Given the description of an element on the screen output the (x, y) to click on. 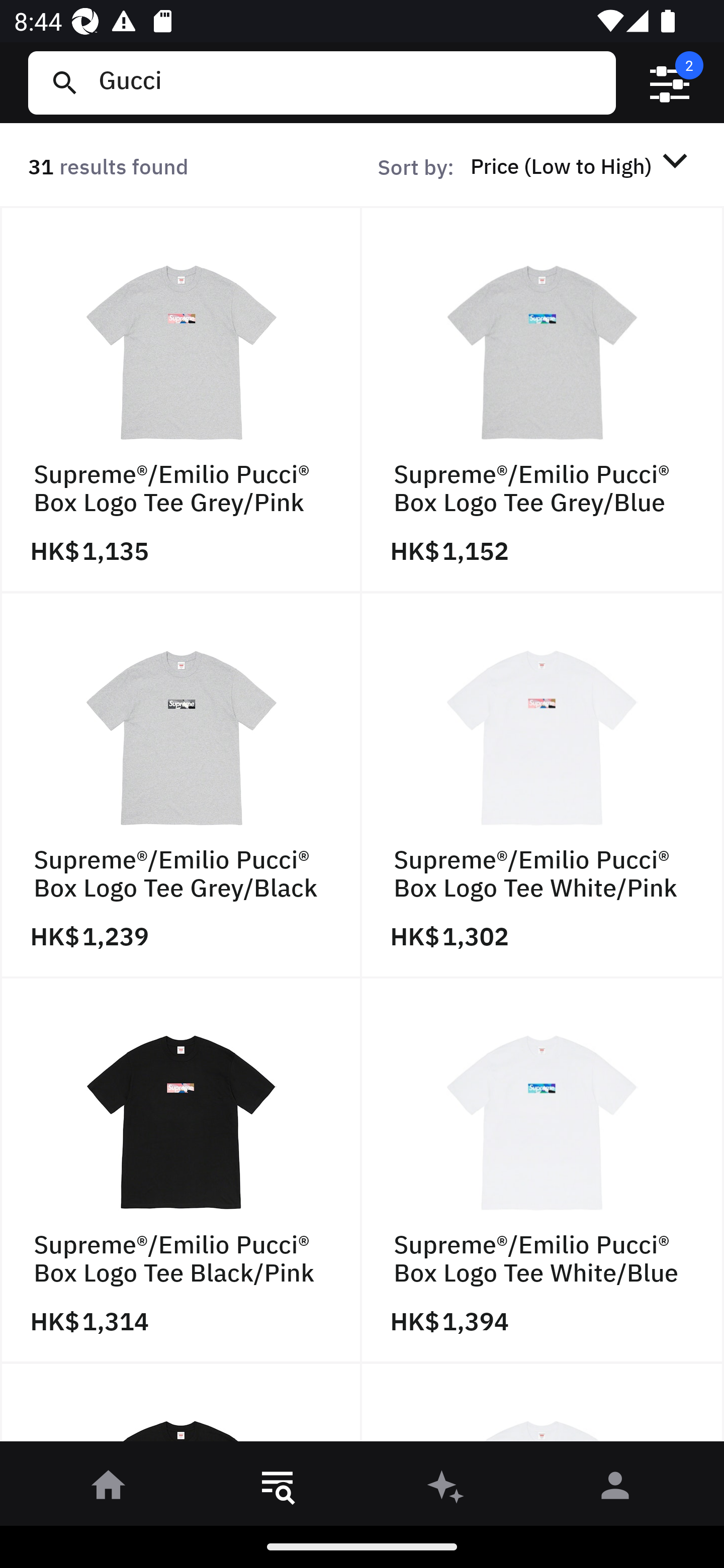
Gucci (349, 82)
 (669, 82)
Price (Low to High)  (582, 165)
󰋜 (108, 1488)
󱎸 (277, 1488)
󰫢 (446, 1488)
󰀄 (615, 1488)
